Given the description of an element on the screen output the (x, y) to click on. 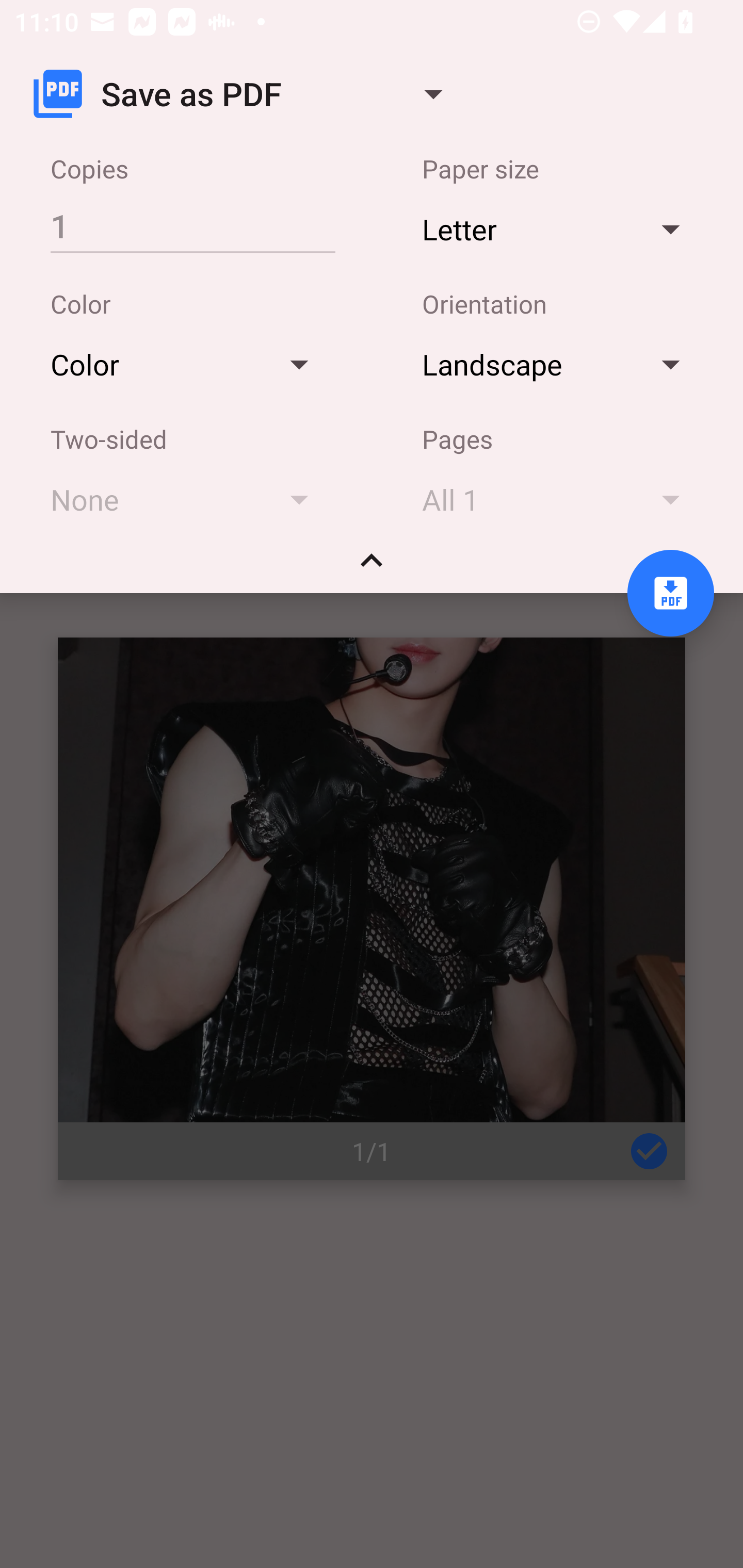
Save as PDF (245, 93)
1 (192, 225)
Letter (560, 228)
Color (189, 364)
Landscape (560, 364)
None (189, 499)
All 1 (560, 499)
Collapse handle (371, 567)
Save to PDF (670, 593)
Page 1 of 1 1/1 (371, 909)
